Given the description of an element on the screen output the (x, y) to click on. 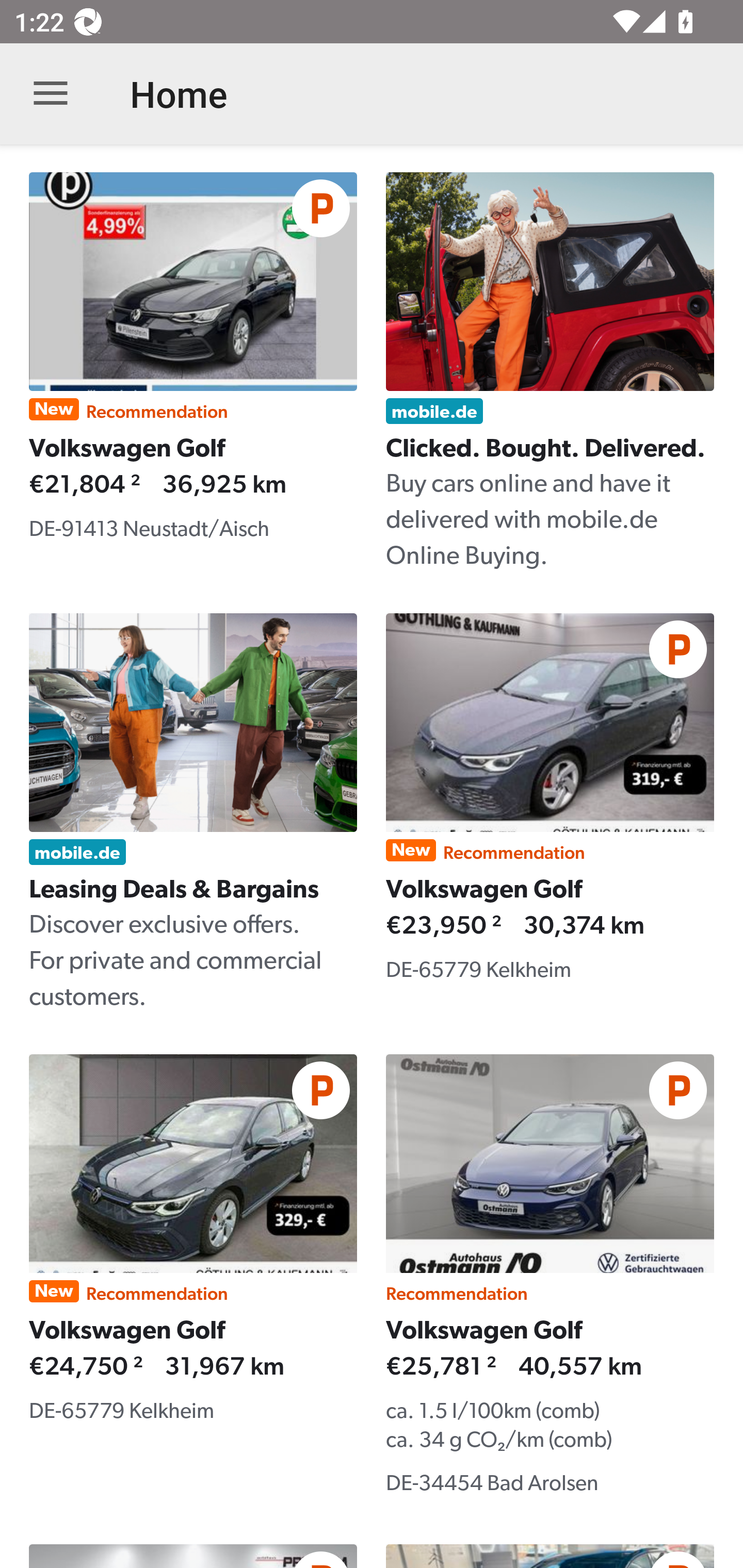
Open navigation bar (50, 93)
